Given the description of an element on the screen output the (x, y) to click on. 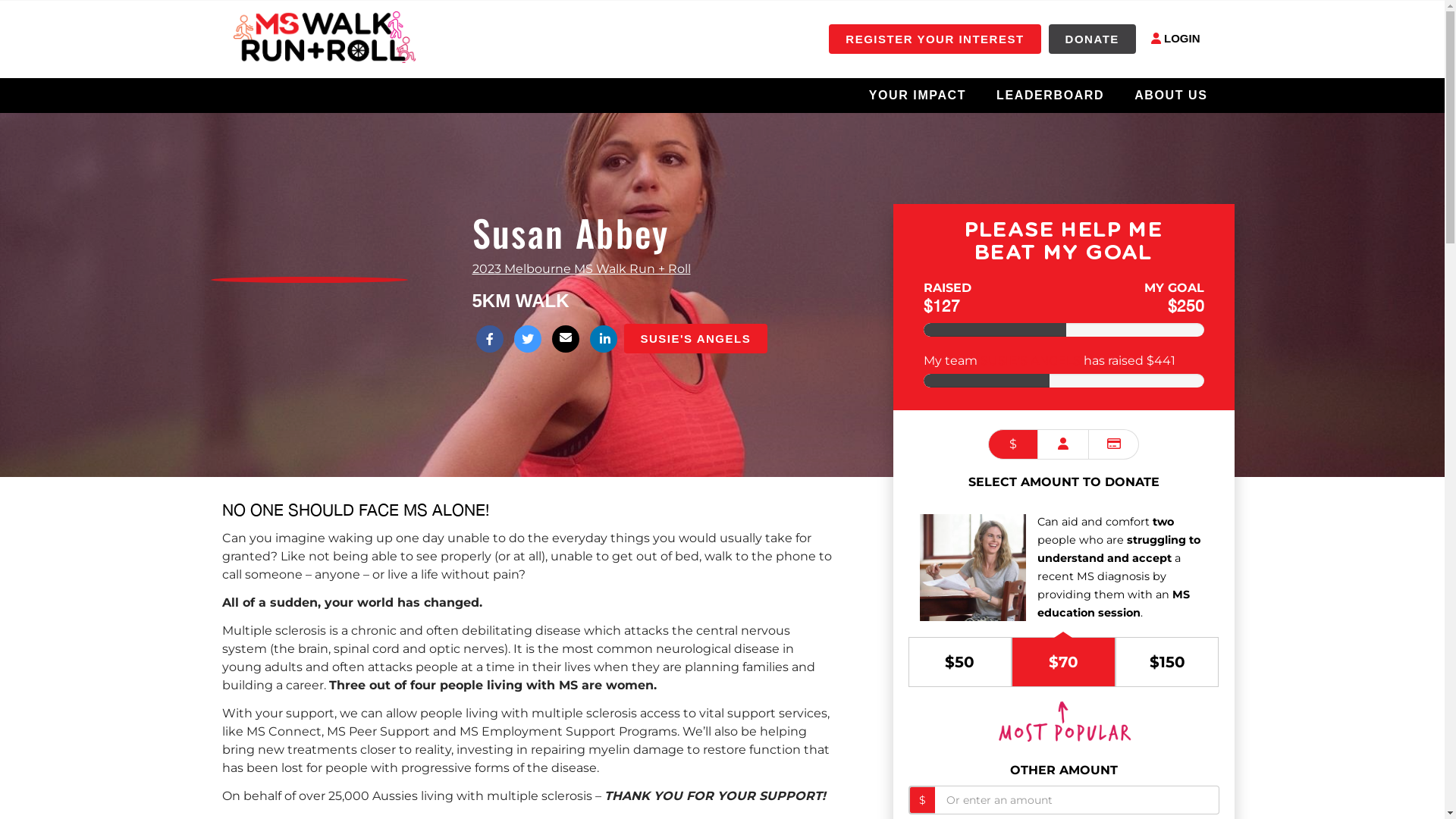
SUSIE'S ANGELS Element type: text (695, 338)
ABOUT US Element type: text (1170, 94)
$ Element type: text (1012, 444)
$50 Element type: text (959, 661)
DONATE Element type: text (1091, 38)
2023 Melbourne MS Walk Run + Roll Element type: text (580, 268)
REGISTER YOUR INTEREST Element type: text (934, 38)
YOUR IMPACT Element type: text (917, 94)
$70 Element type: text (1063, 661)
LEADERBOARD Element type: text (1050, 94)
LOGIN Element type: text (1175, 38)
SUSIE'S ANGELS Element type: text (1029, 360)
$150 Element type: text (1167, 661)
